Given the description of an element on the screen output the (x, y) to click on. 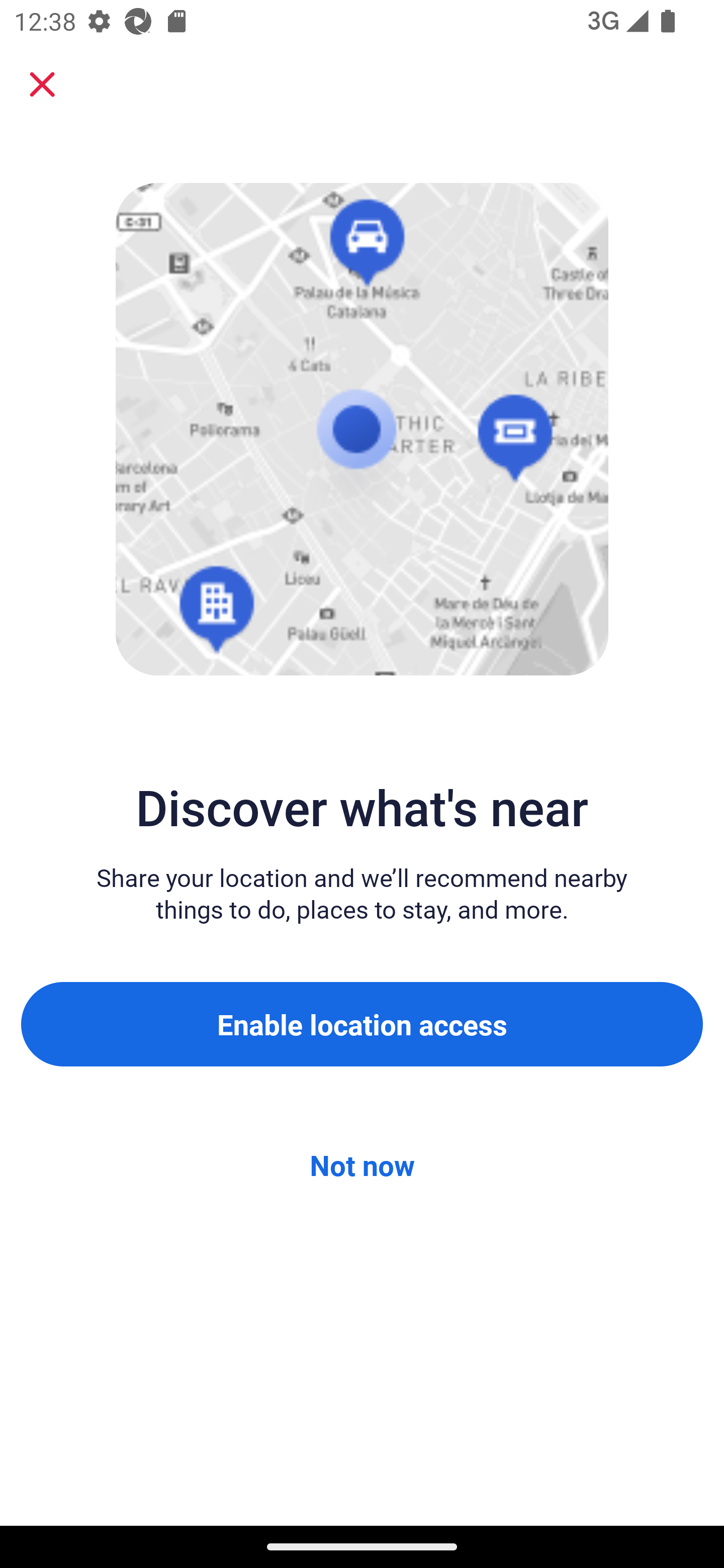
Close sheet (42, 84)
Enable location access (361, 1023)
Not now (362, 1164)
